Given the description of an element on the screen output the (x, y) to click on. 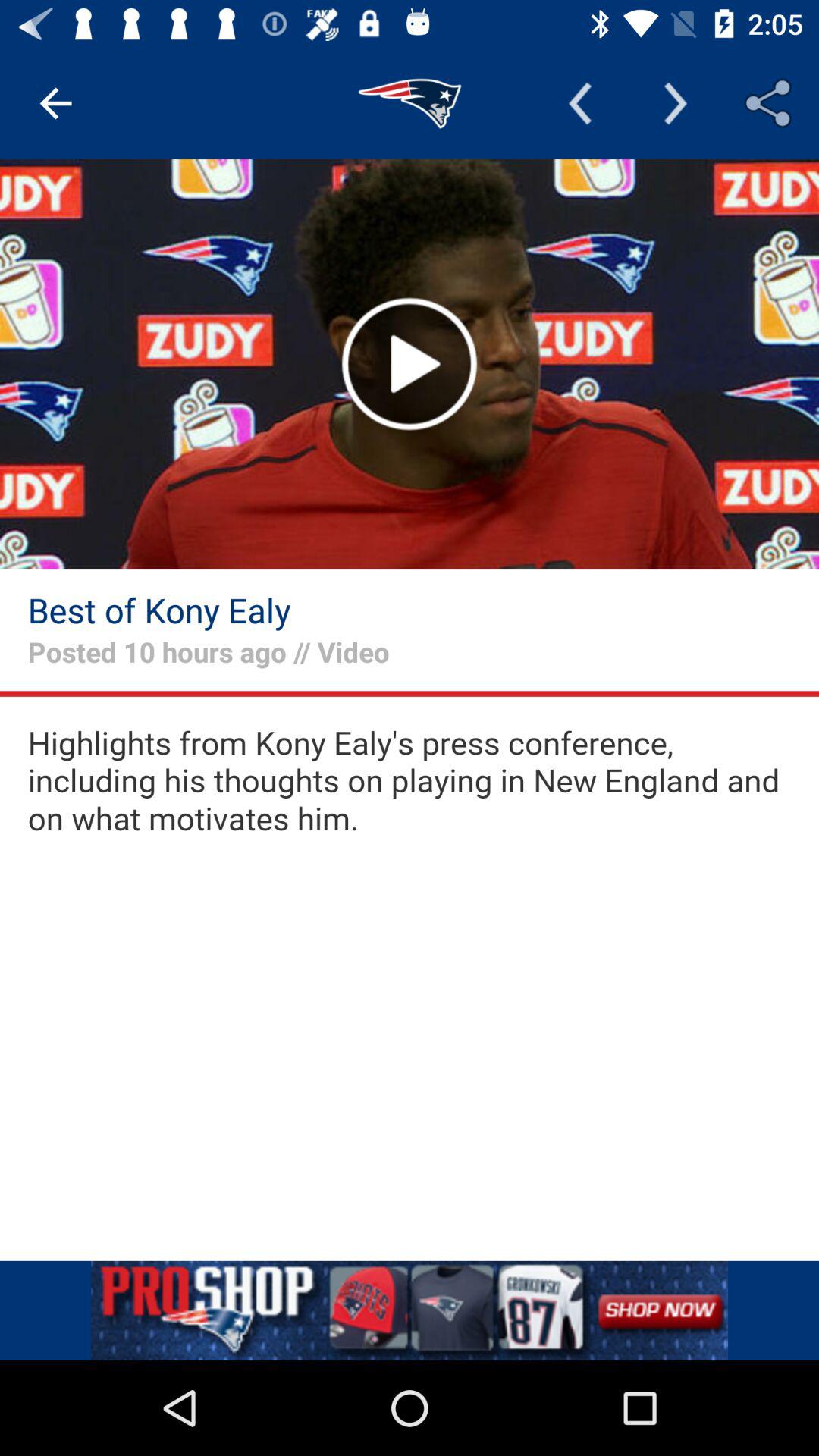
open advertisement (409, 1310)
